Given the description of an element on the screen output the (x, y) to click on. 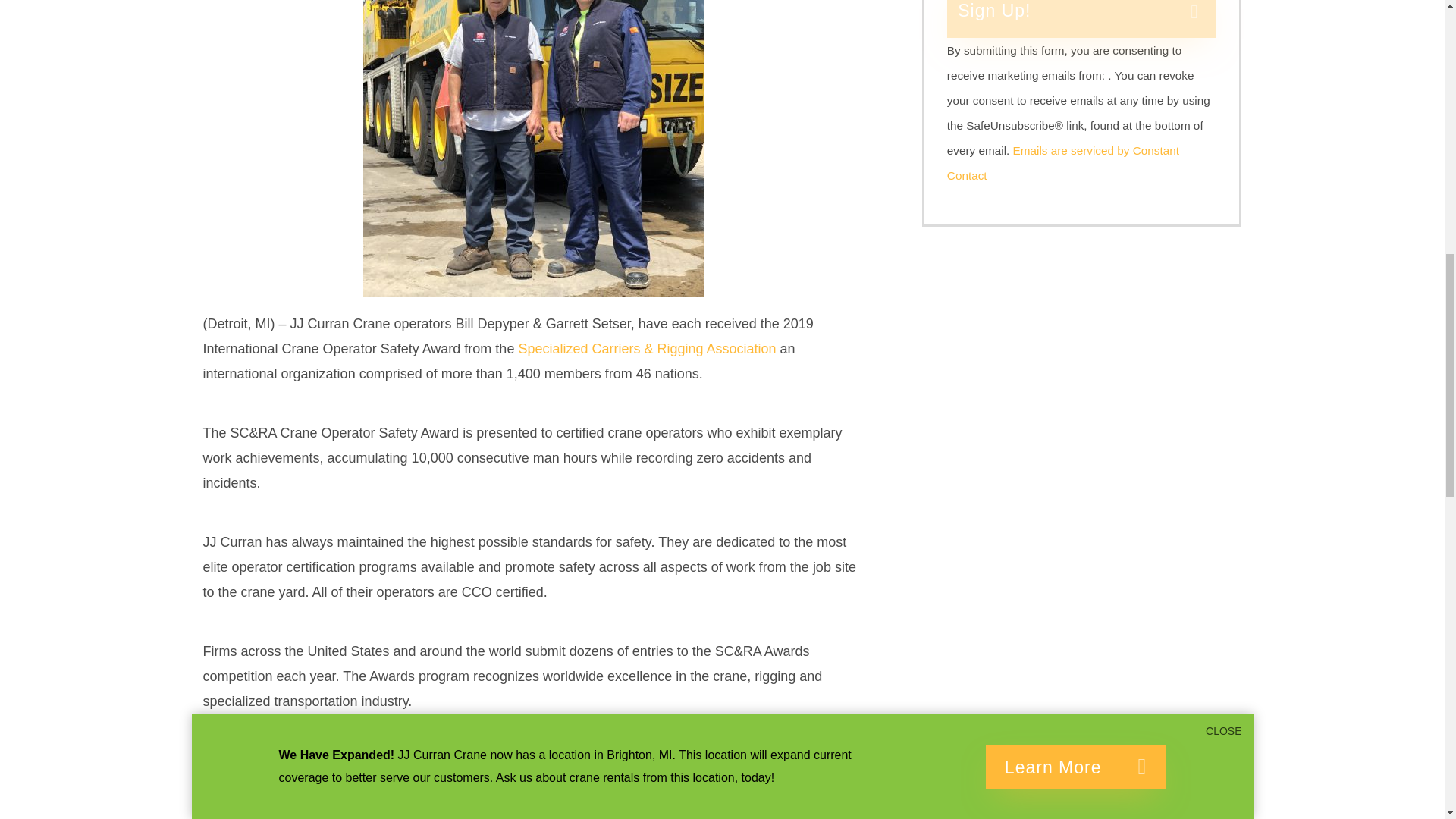
Emails are serviced by Constant Contact (1063, 162)
Sign Up! (1082, 18)
Sign Up! (1082, 18)
